Given the description of an element on the screen output the (x, y) to click on. 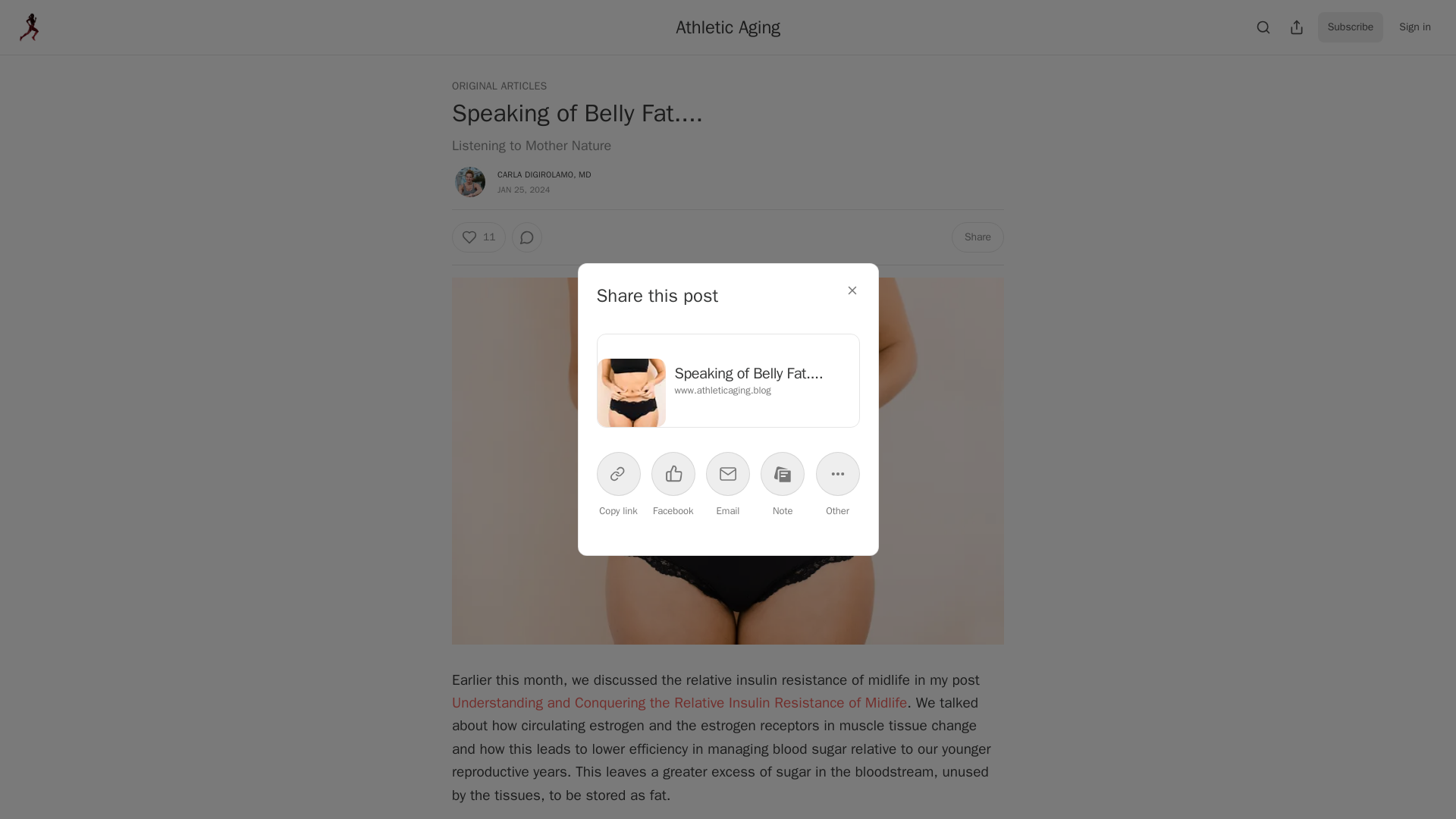
CARLA DIGIROLAMO, MD (544, 173)
Sign in (1415, 27)
11 (478, 236)
Athletic Aging (727, 26)
Share (978, 236)
Subscribe (1350, 27)
ORIGINAL ARTICLES (499, 86)
